Given the description of an element on the screen output the (x, y) to click on. 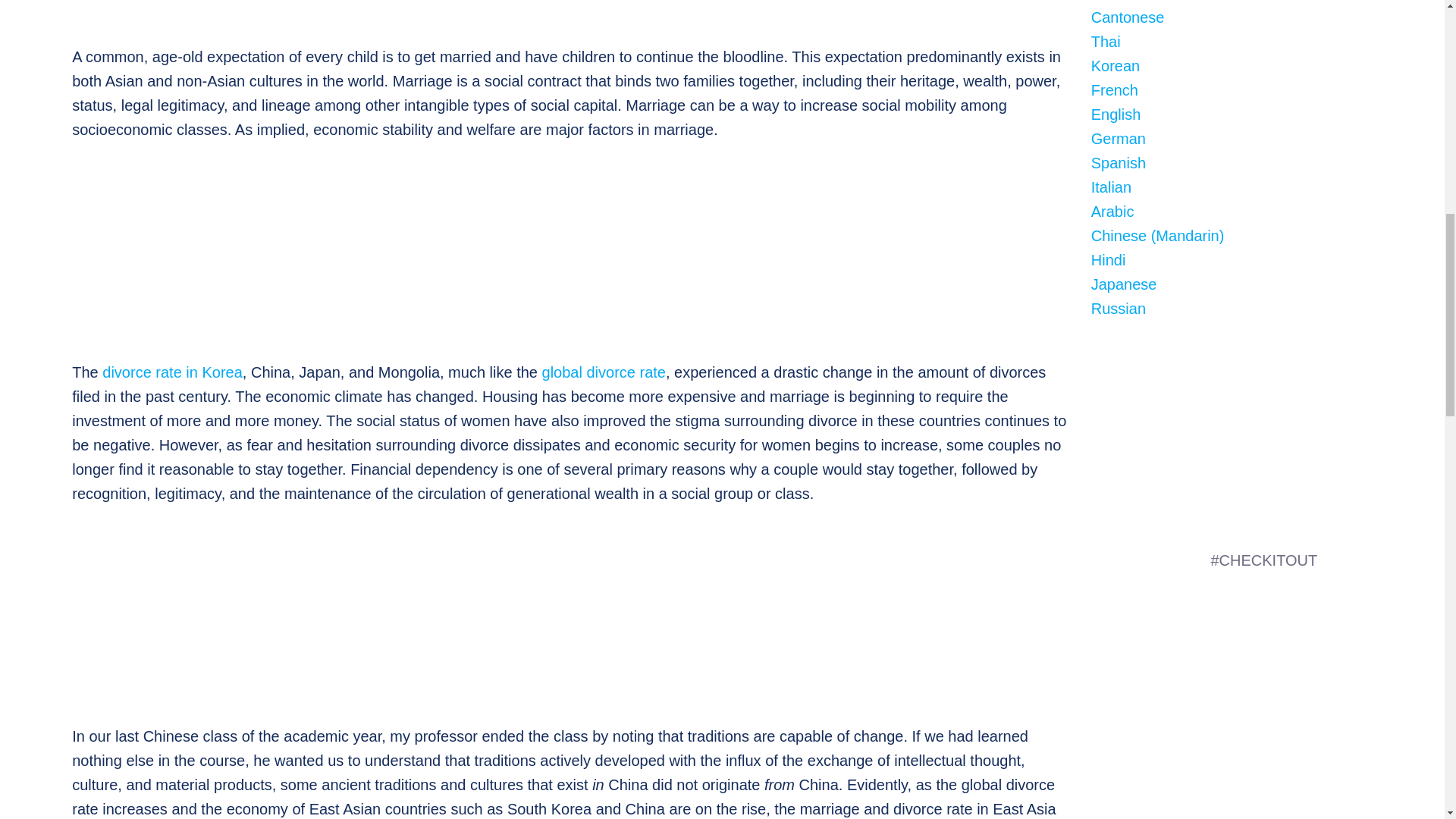
Korean (1115, 65)
Spanish (1117, 162)
divorce rate in Korea (172, 371)
Cantonese (1127, 17)
Taiwanese (1126, 0)
Thai (1105, 41)
Japanese (1123, 284)
French (1114, 89)
Arabic (1112, 211)
German (1117, 138)
